Given the description of an element on the screen output the (x, y) to click on. 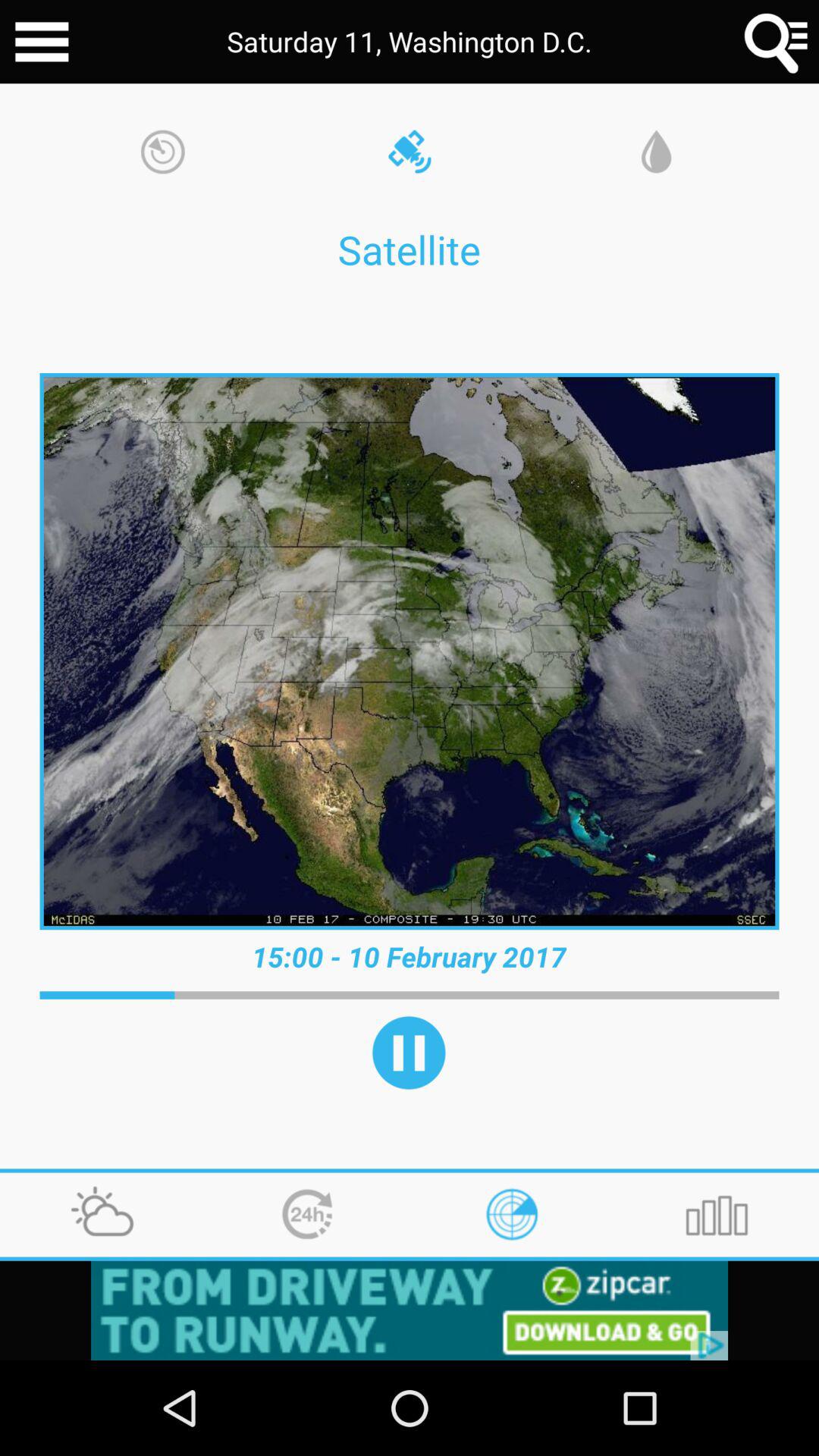
open advertisement (409, 1310)
